Given the description of an element on the screen output the (x, y) to click on. 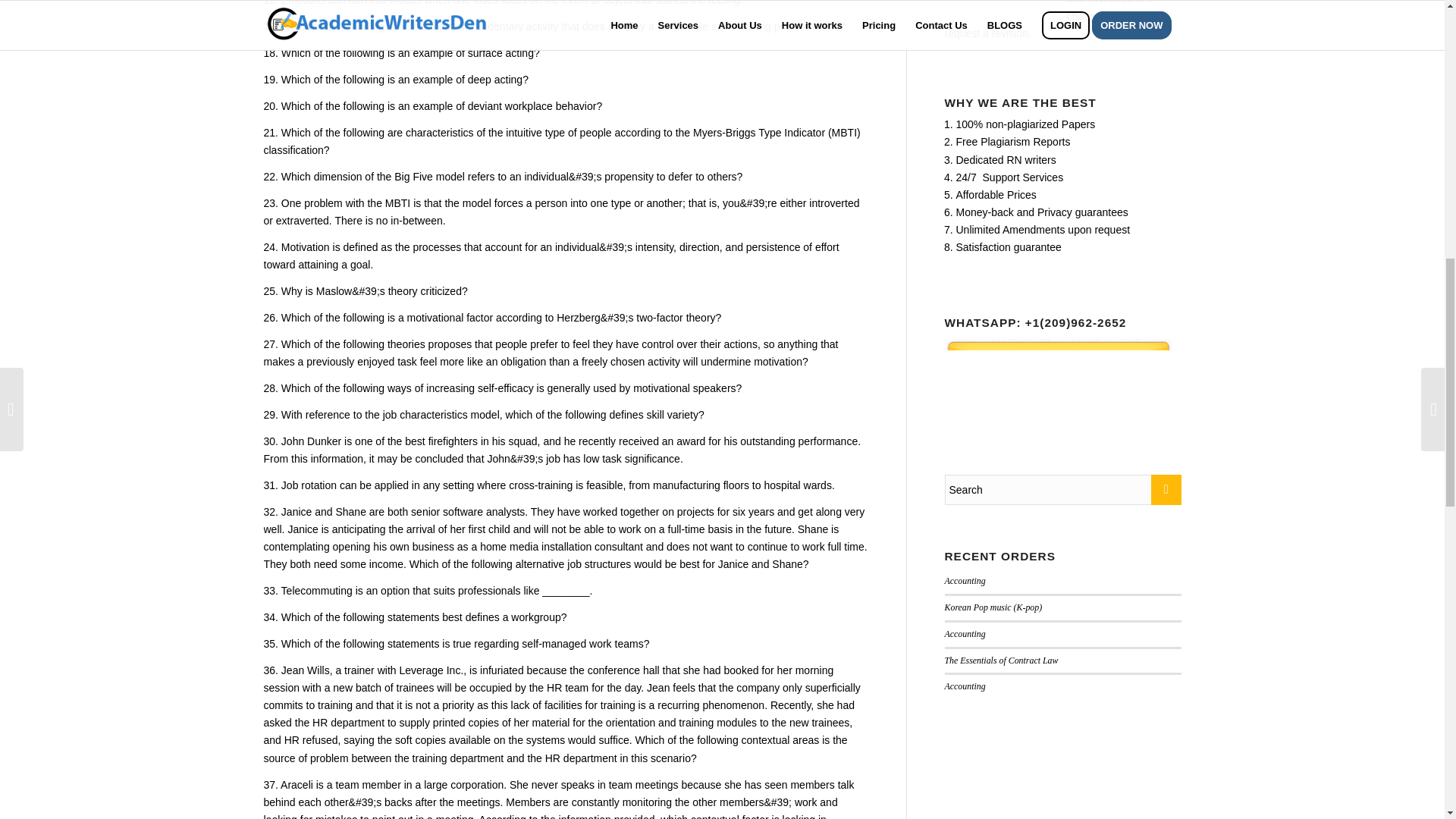
Accounting (964, 685)
Accounting (964, 633)
Accounting (964, 580)
The Essentials of Contract Law (1001, 660)
